Given the description of an element on the screen output the (x, y) to click on. 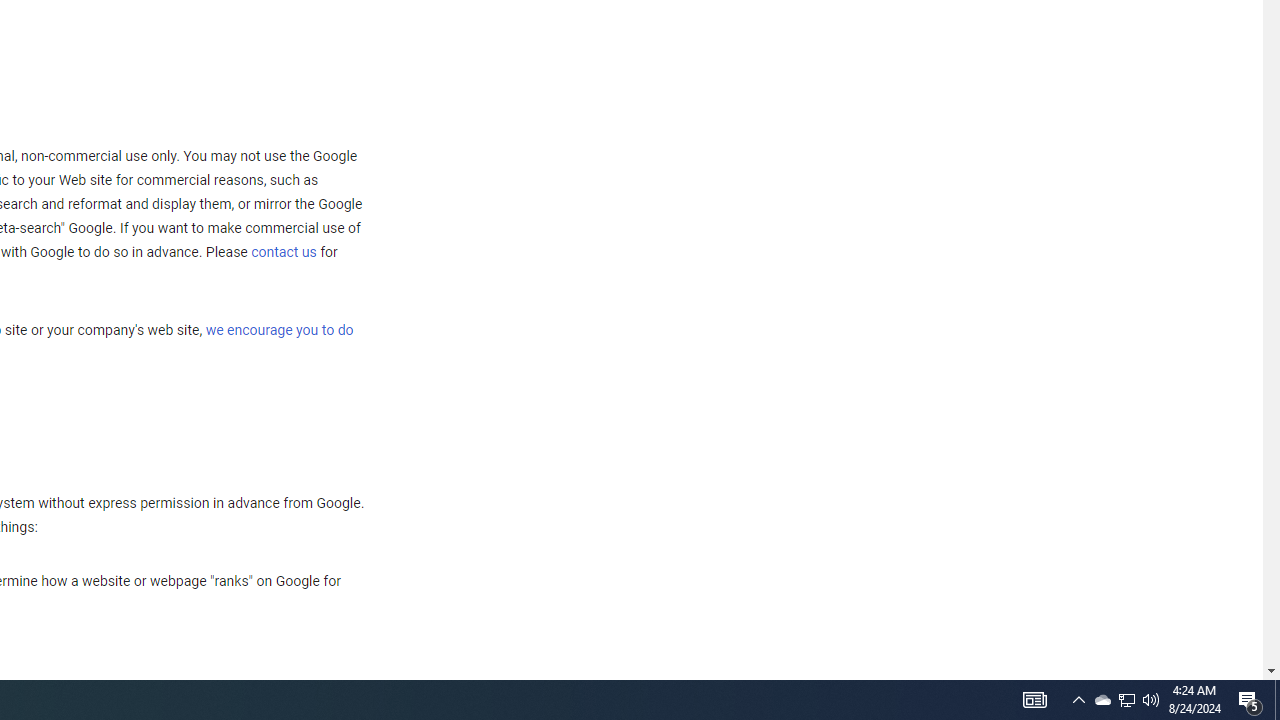
contact us (283, 251)
